Given the description of an element on the screen output the (x, y) to click on. 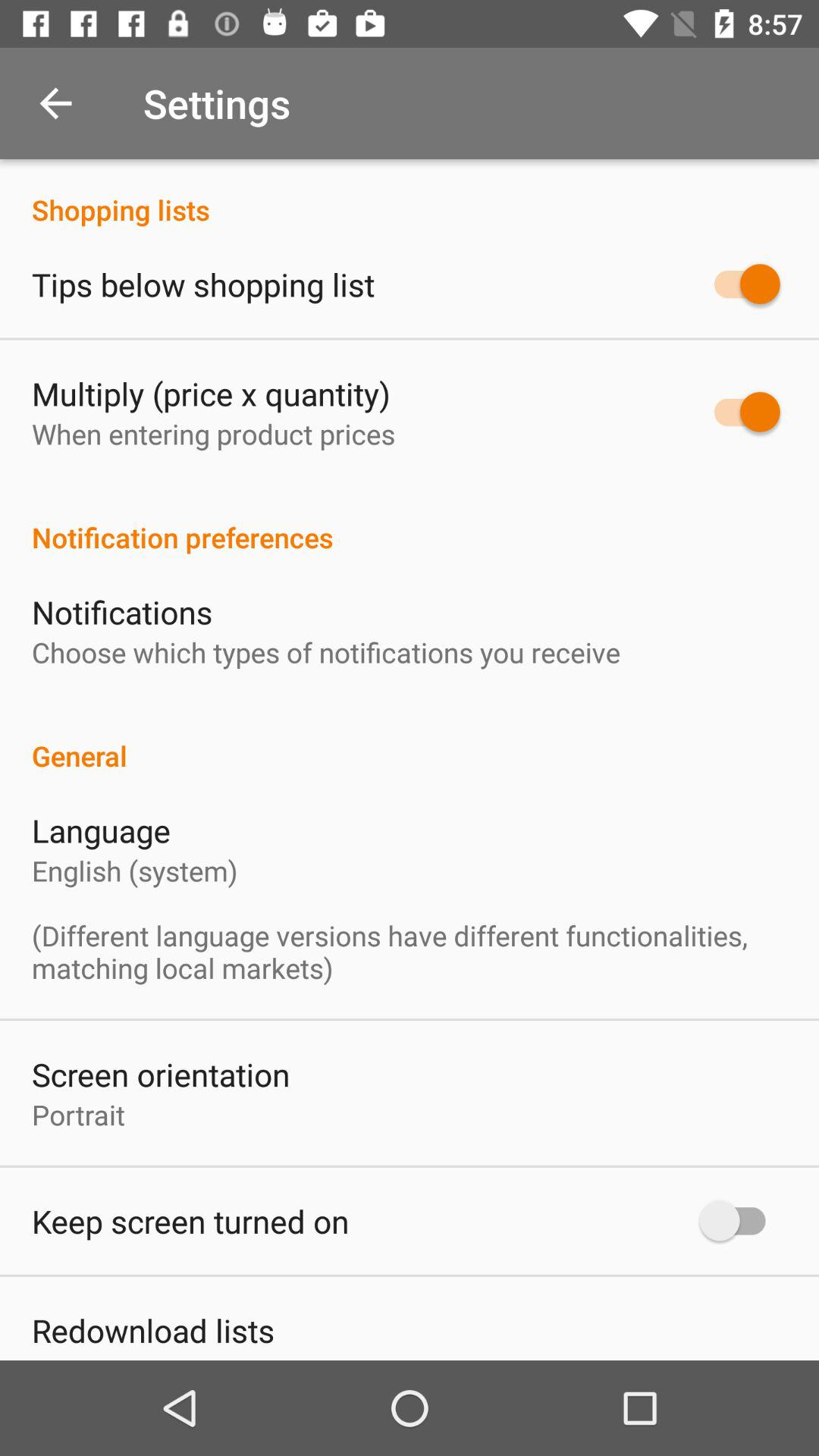
swipe to redownload lists icon (152, 1329)
